Given the description of an element on the screen output the (x, y) to click on. 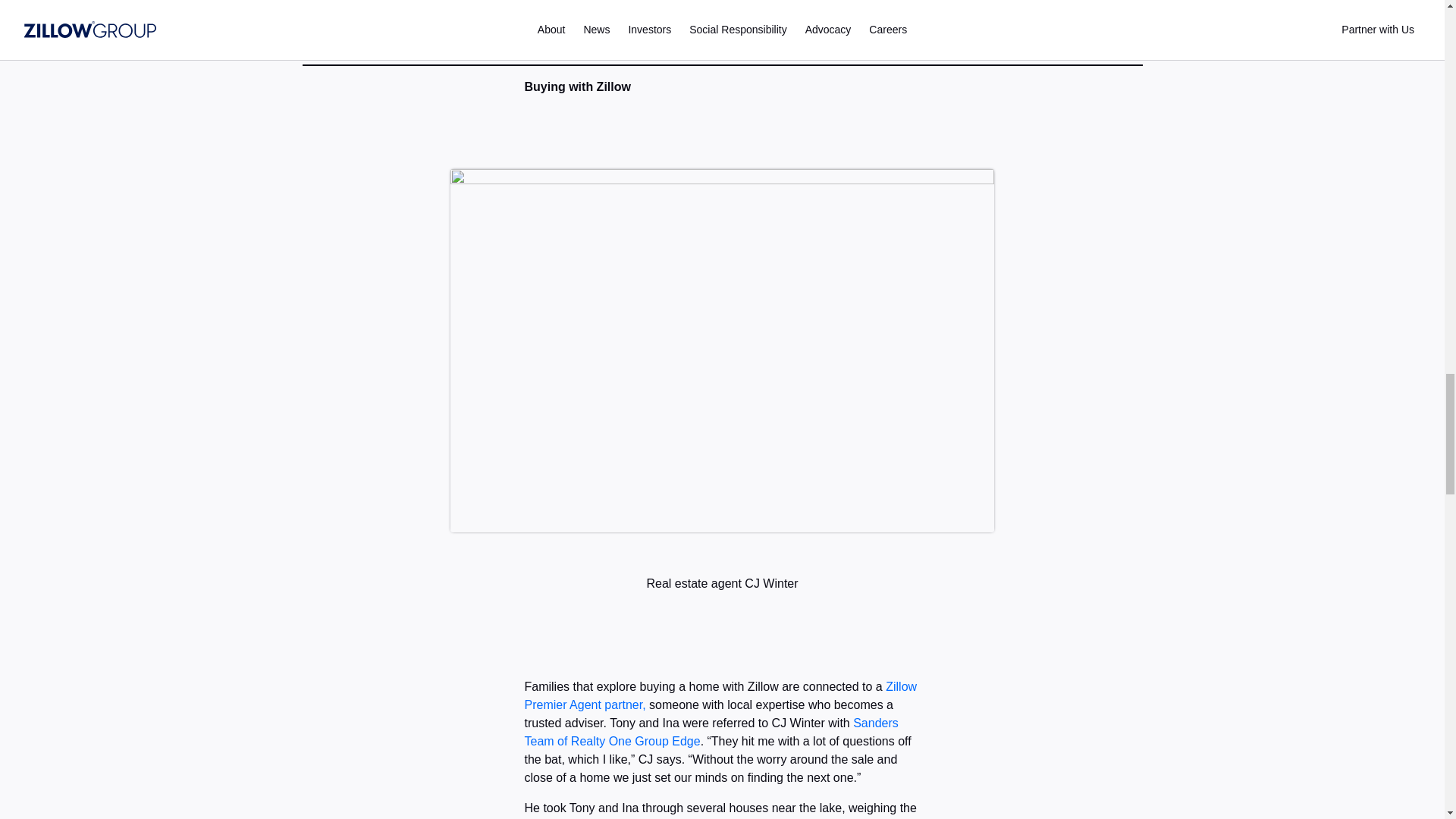
Zillow Premier Agent partner, (720, 695)
Sanders Team of Realty One Group Edge (711, 731)
